Given the description of an element on the screen output the (x, y) to click on. 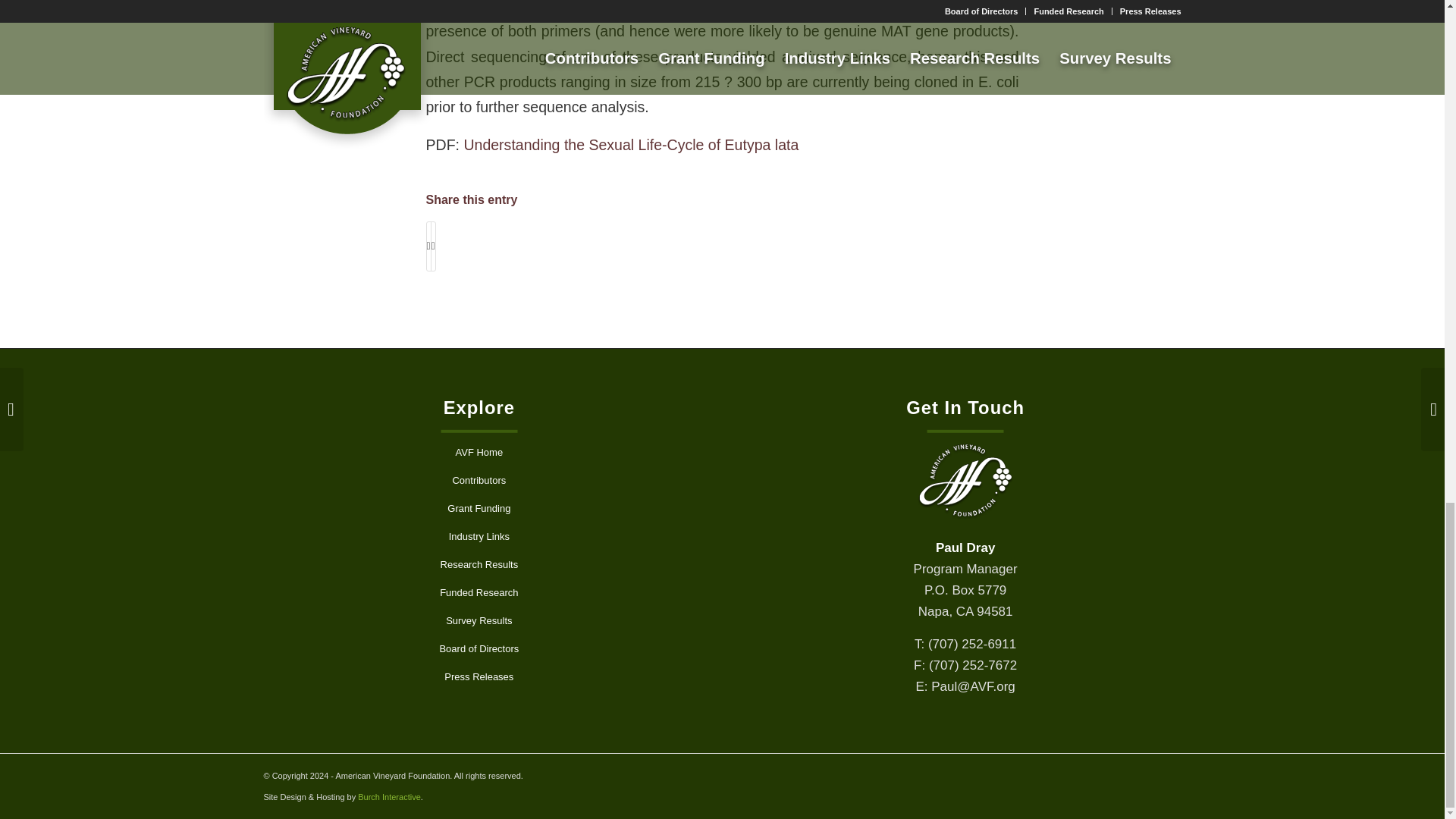
Research Results (479, 565)
Funded Research (479, 593)
Contributors to AVF (479, 480)
Understanding the Sexual Life-Cycle of Eutypa lata (630, 144)
Burch Interactive (389, 796)
Grant Funding RFP (479, 509)
Grant Funding (479, 509)
Board of Directors (479, 649)
Industry Links (479, 537)
Survey Results (479, 621)
Press Releases (479, 677)
Contributors (479, 480)
AVF Home (479, 452)
